Given the description of an element on the screen output the (x, y) to click on. 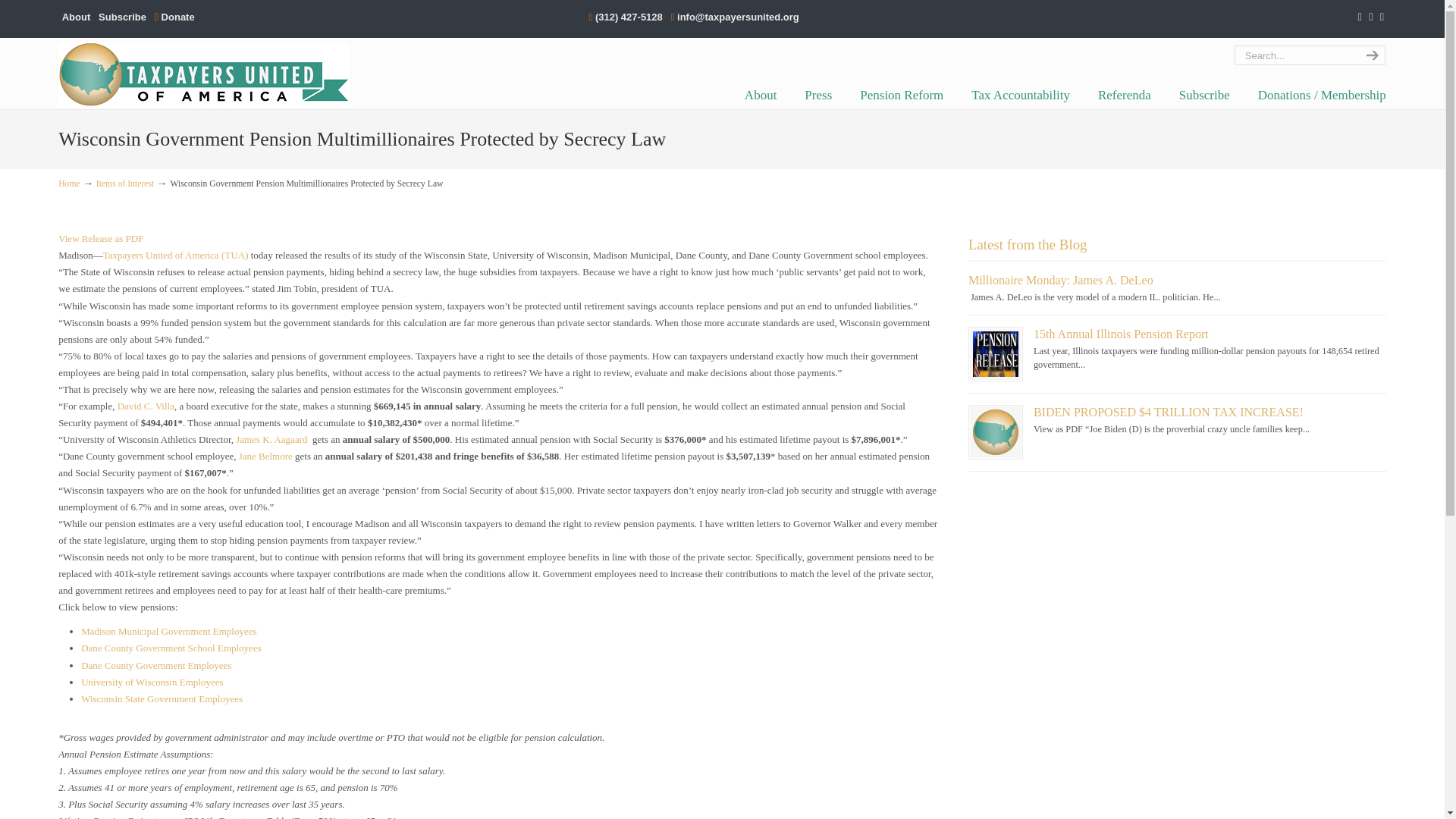
Subscribe (1203, 95)
About (760, 95)
search (1370, 55)
Tax Accountability (1020, 95)
Referenda (1124, 95)
Search... (1294, 55)
Press (818, 95)
search (1370, 55)
15th Annual Illinois Pension Report (1120, 333)
Millionaire Monday: James A. DeLeo (1060, 279)
Taxpayers United Of America (203, 74)
search (1370, 55)
Home (69, 184)
Donate (174, 16)
15th Annual Illinois Pension Report (994, 352)
